Given the description of an element on the screen output the (x, y) to click on. 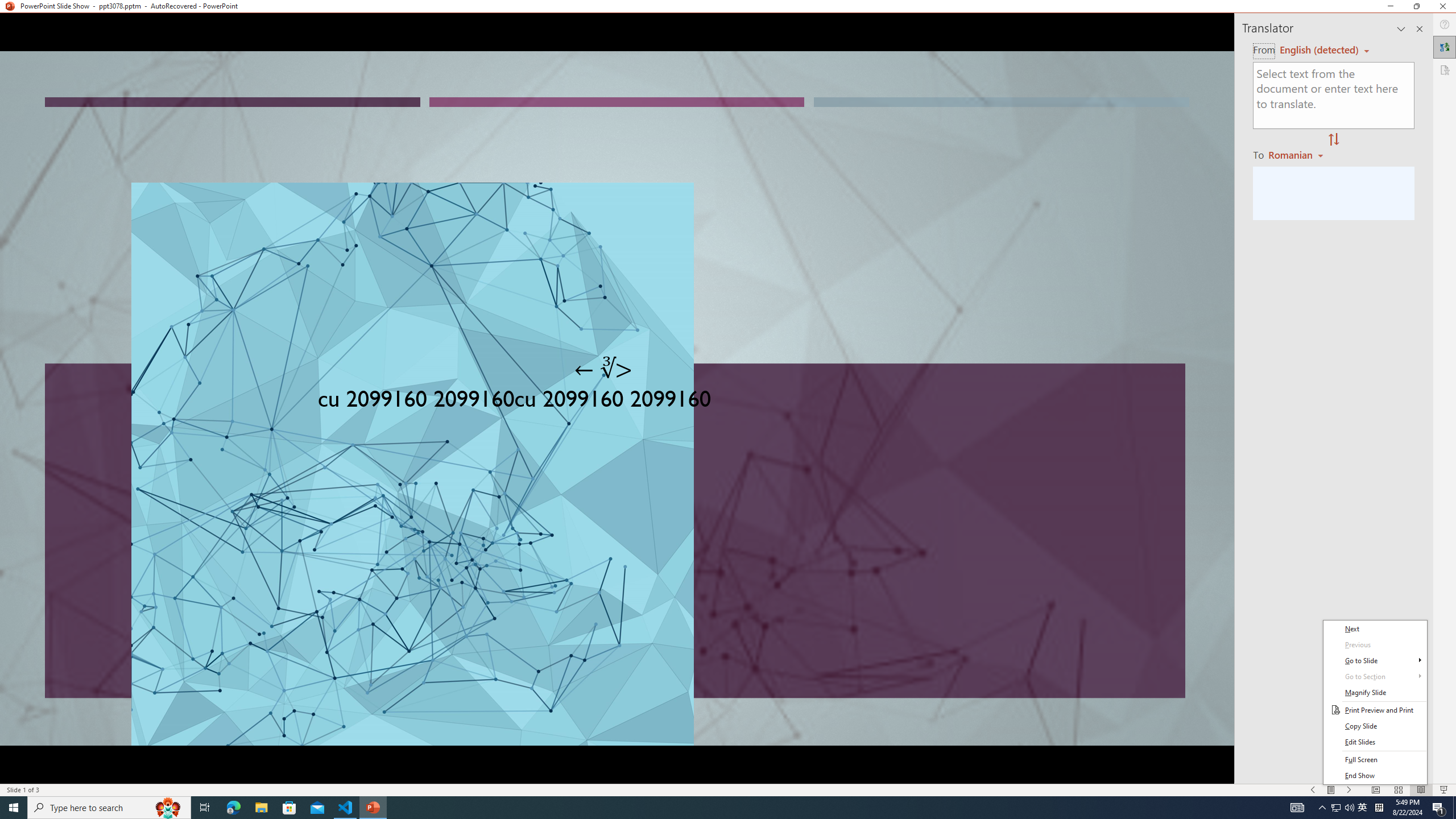
Full Screen (1374, 759)
Previous (1374, 644)
Copy Slide (1374, 726)
Slide Show Previous On (1313, 790)
Go to Slide (1374, 660)
